Given the description of an element on the screen output the (x, y) to click on. 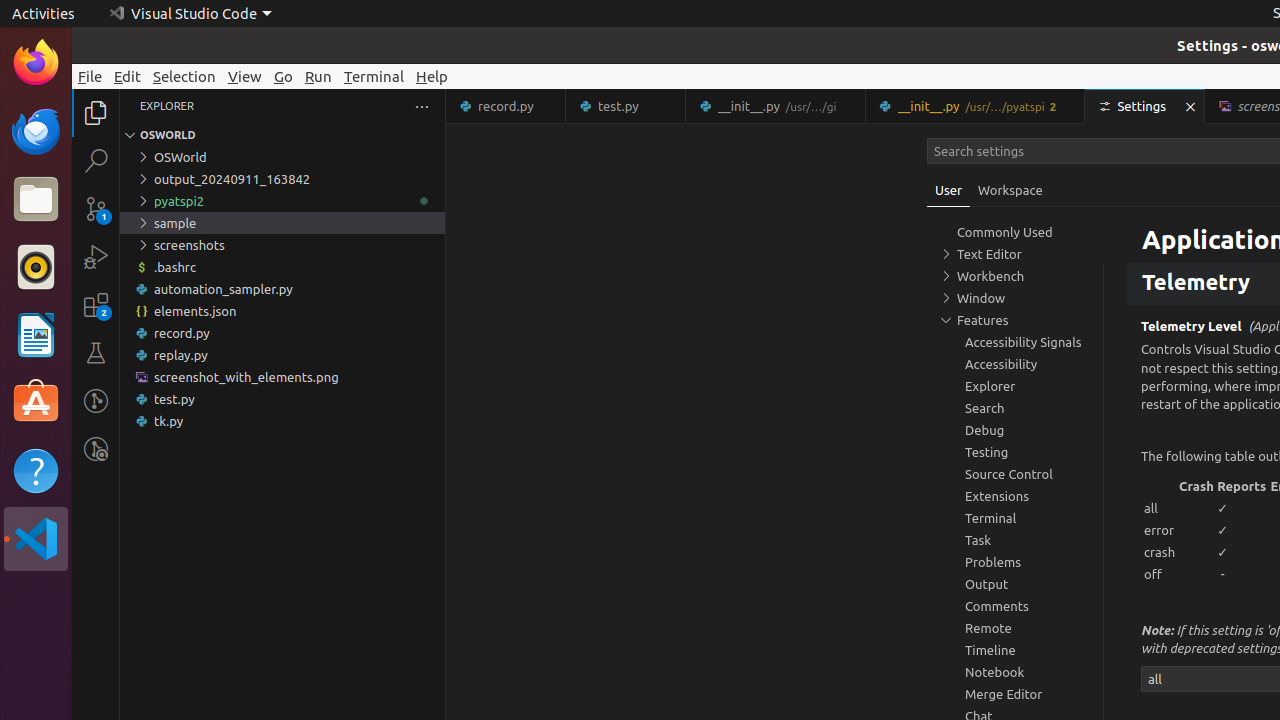
Text Editor, group Element type: tree-item (1015, 254)
test.py Element type: page-tab (626, 106)
Run Element type: push-button (318, 76)
sample Element type: tree-item (282, 223)
